Given the description of an element on the screen output the (x, y) to click on. 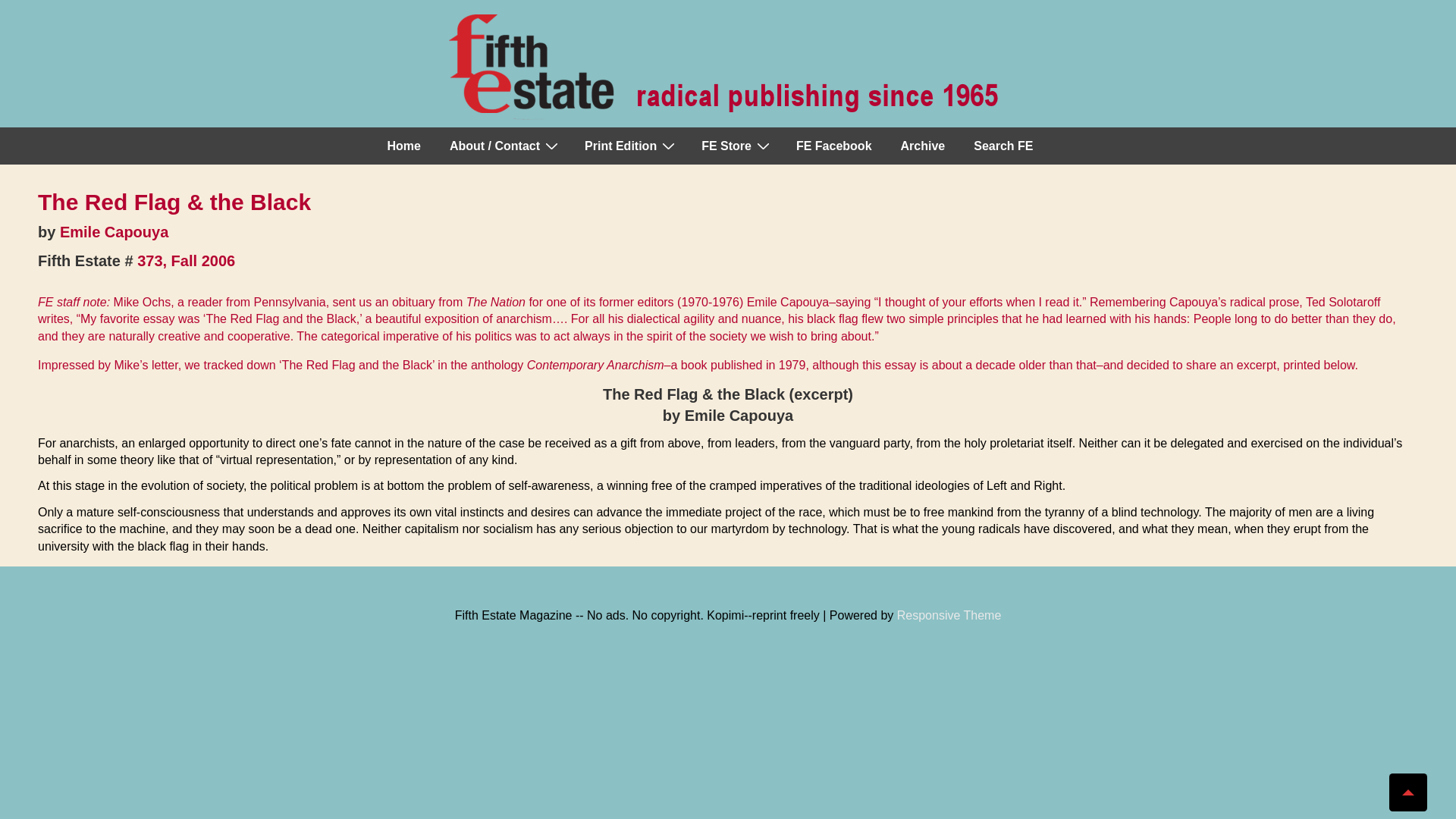
Search FE (1002, 145)
Print Edition (627, 145)
FE Facebook (834, 145)
Archive (922, 145)
373, Fall 2006 (185, 260)
Responsive Theme (948, 615)
FE Store (733, 145)
Recordings (733, 145)
Emile Capouya (113, 231)
Home (402, 145)
